Given the description of an element on the screen output the (x, y) to click on. 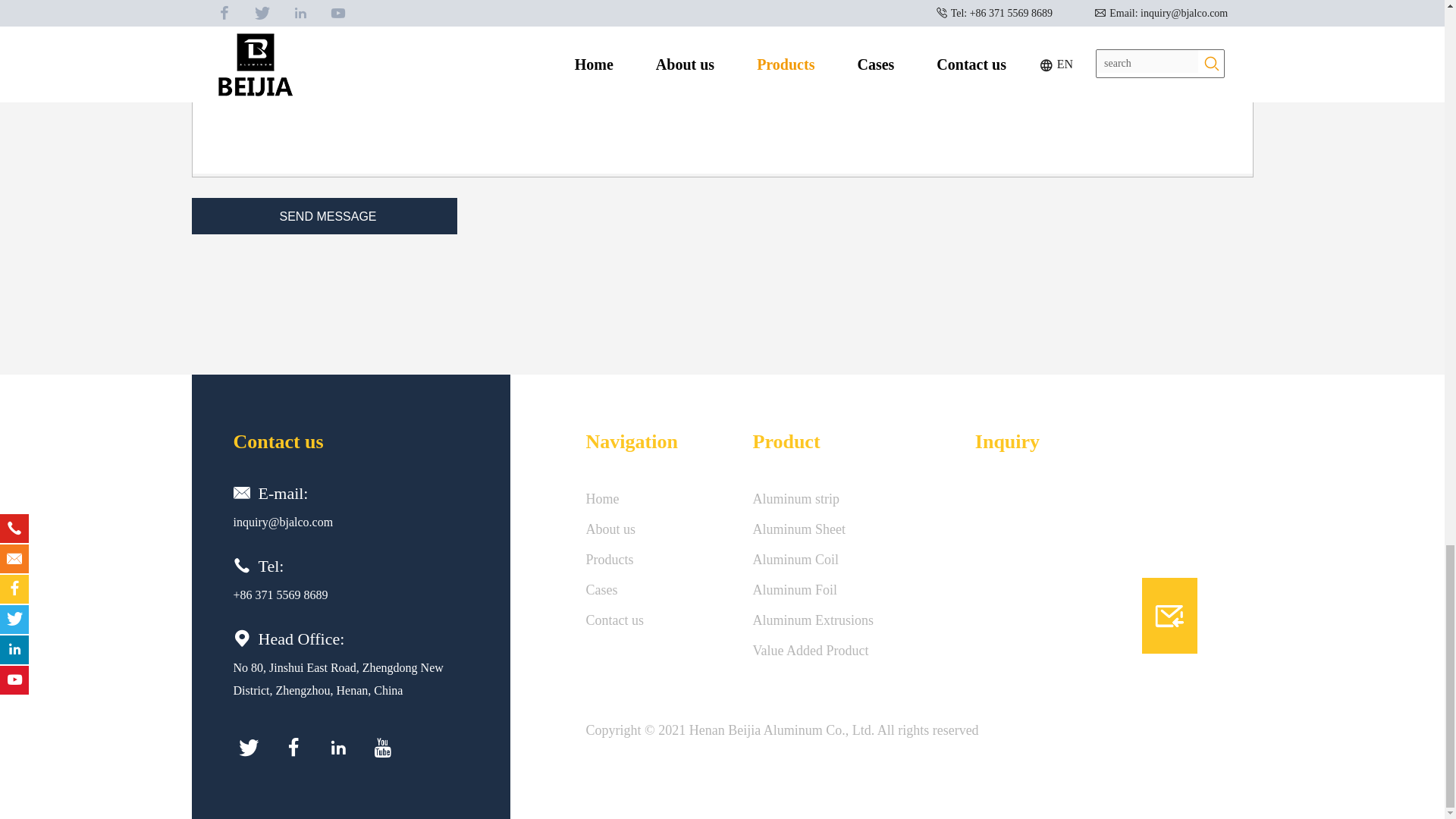
twitter (247, 747)
youtube (381, 747)
facebook (292, 747)
linkedin (338, 747)
SEND MESSAGE (323, 216)
